Given the description of an element on the screen output the (x, y) to click on. 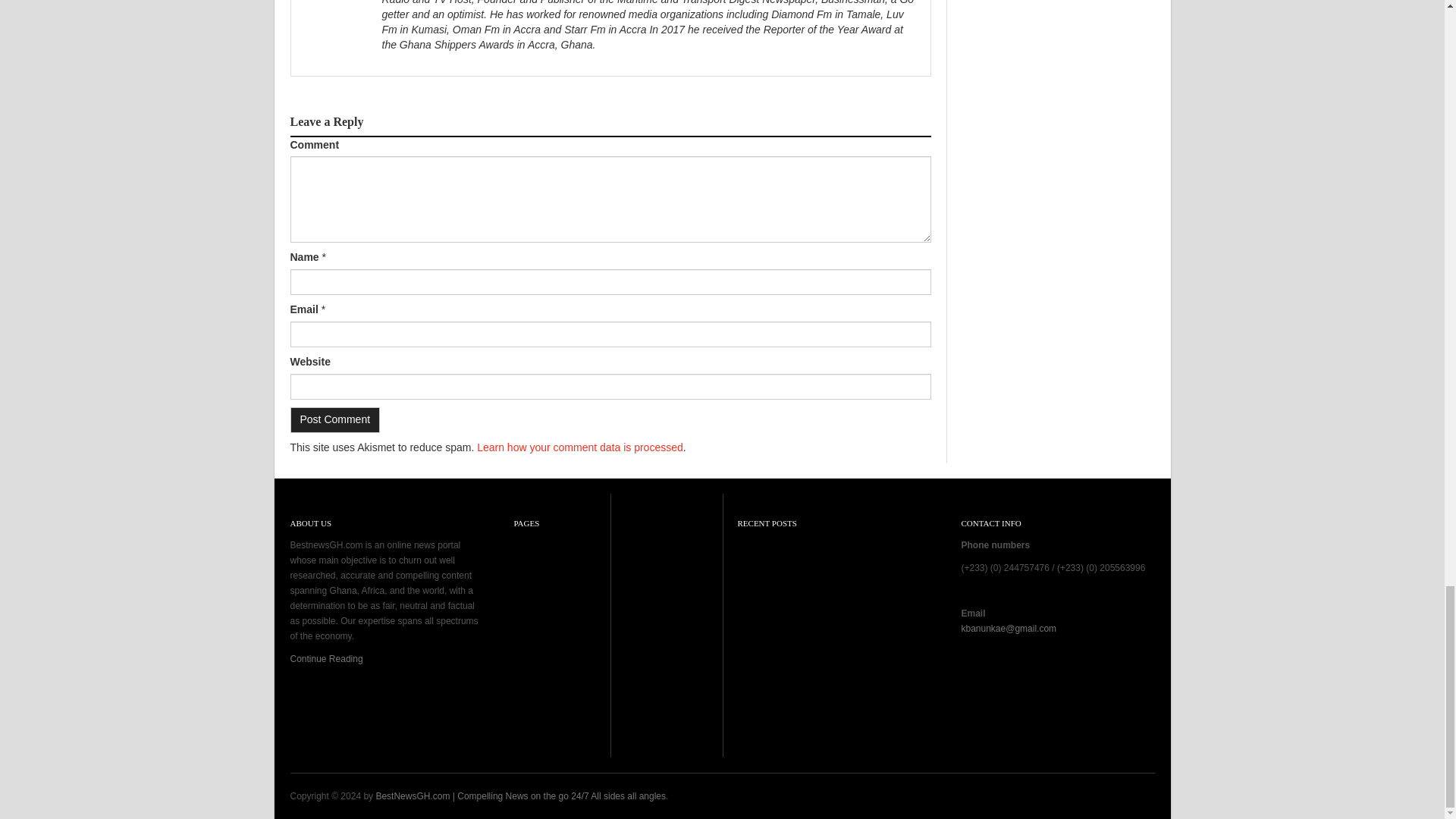
Post Comment (334, 420)
